Given the description of an element on the screen output the (x, y) to click on. 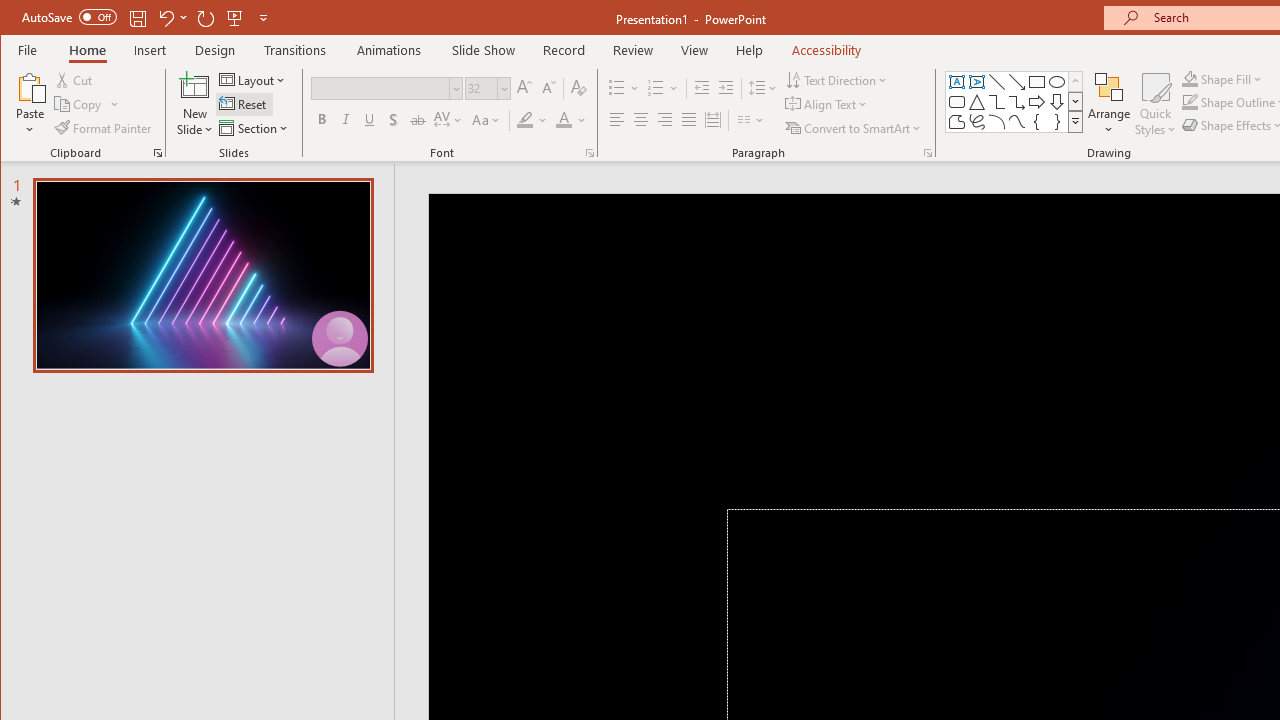
Arrow: Right (1036, 102)
Change Case (486, 119)
Rectangle: Rounded Corners (956, 102)
Reset (244, 103)
Convert to SmartArt (855, 127)
Decrease Indent (701, 88)
Shape Fill (1222, 78)
Decrease Font Size (548, 88)
Align Text (828, 103)
